Given the description of an element on the screen output the (x, y) to click on. 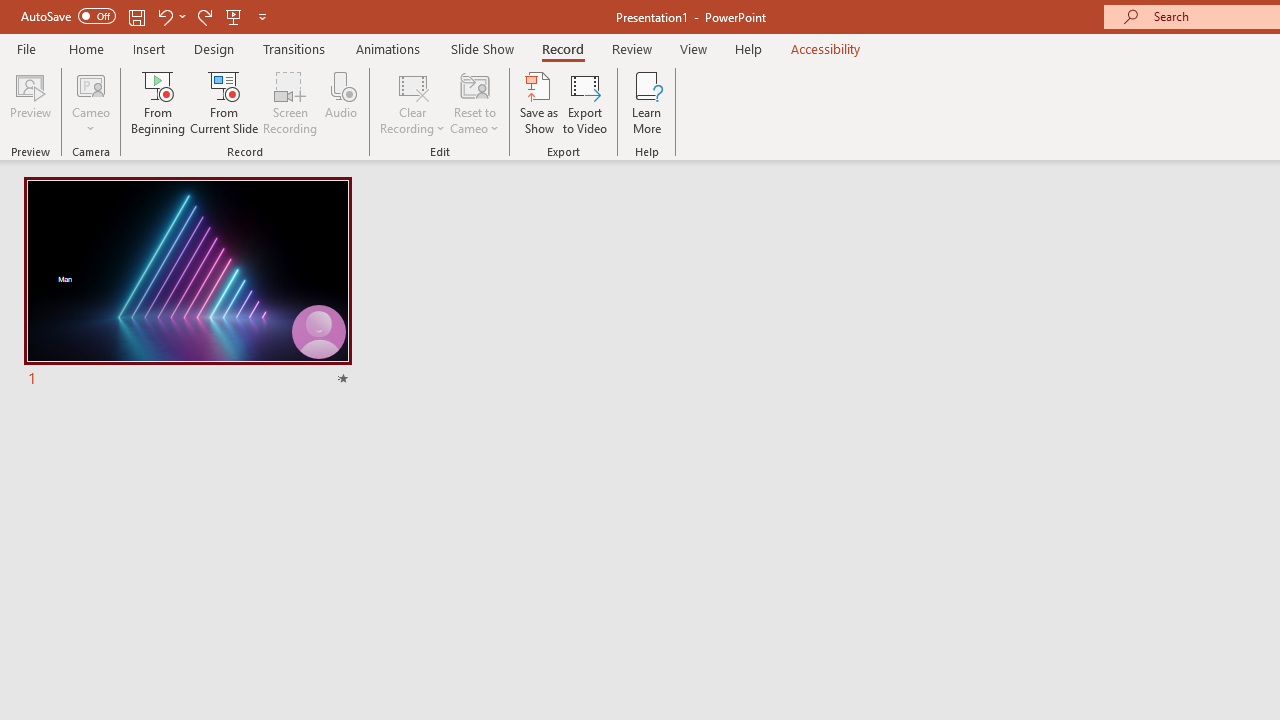
Export to Video (585, 102)
Accessibility (825, 48)
Save as Show (539, 102)
Slide (187, 284)
